Given the description of an element on the screen output the (x, y) to click on. 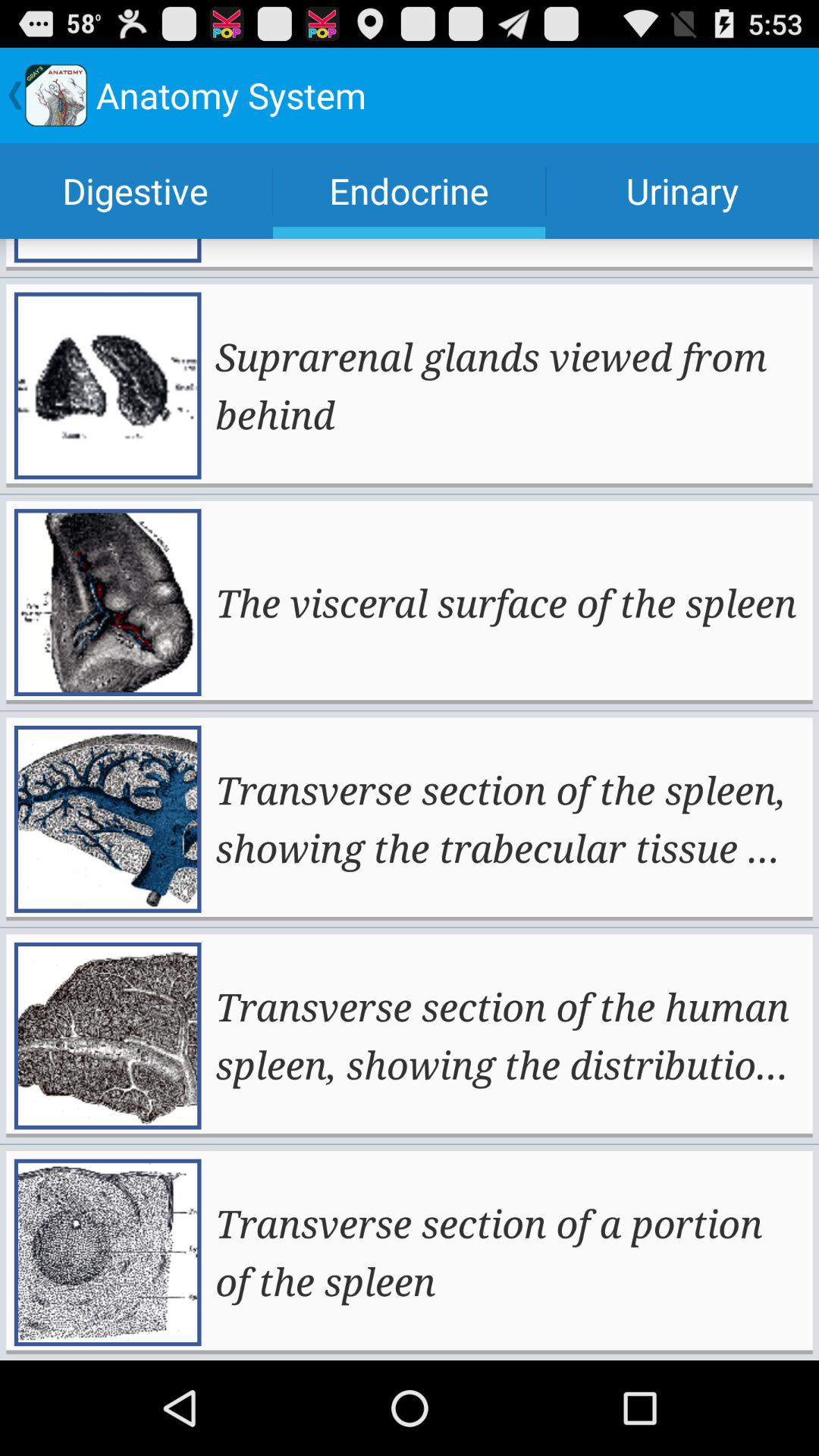
flip to the the visceral surface icon (505, 602)
